Given the description of an element on the screen output the (x, y) to click on. 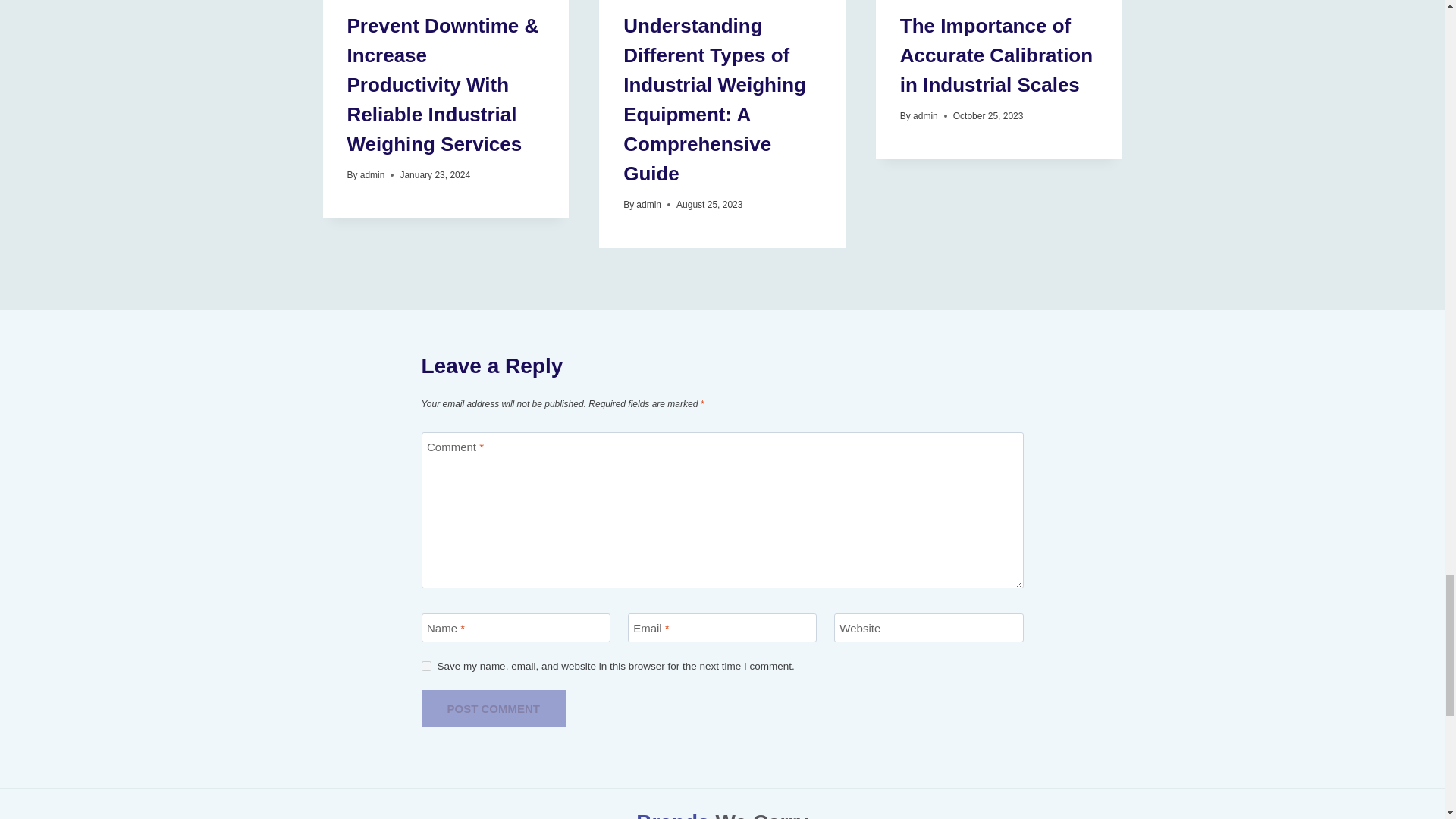
yes (426, 665)
Post Comment (494, 708)
